Given the description of an element on the screen output the (x, y) to click on. 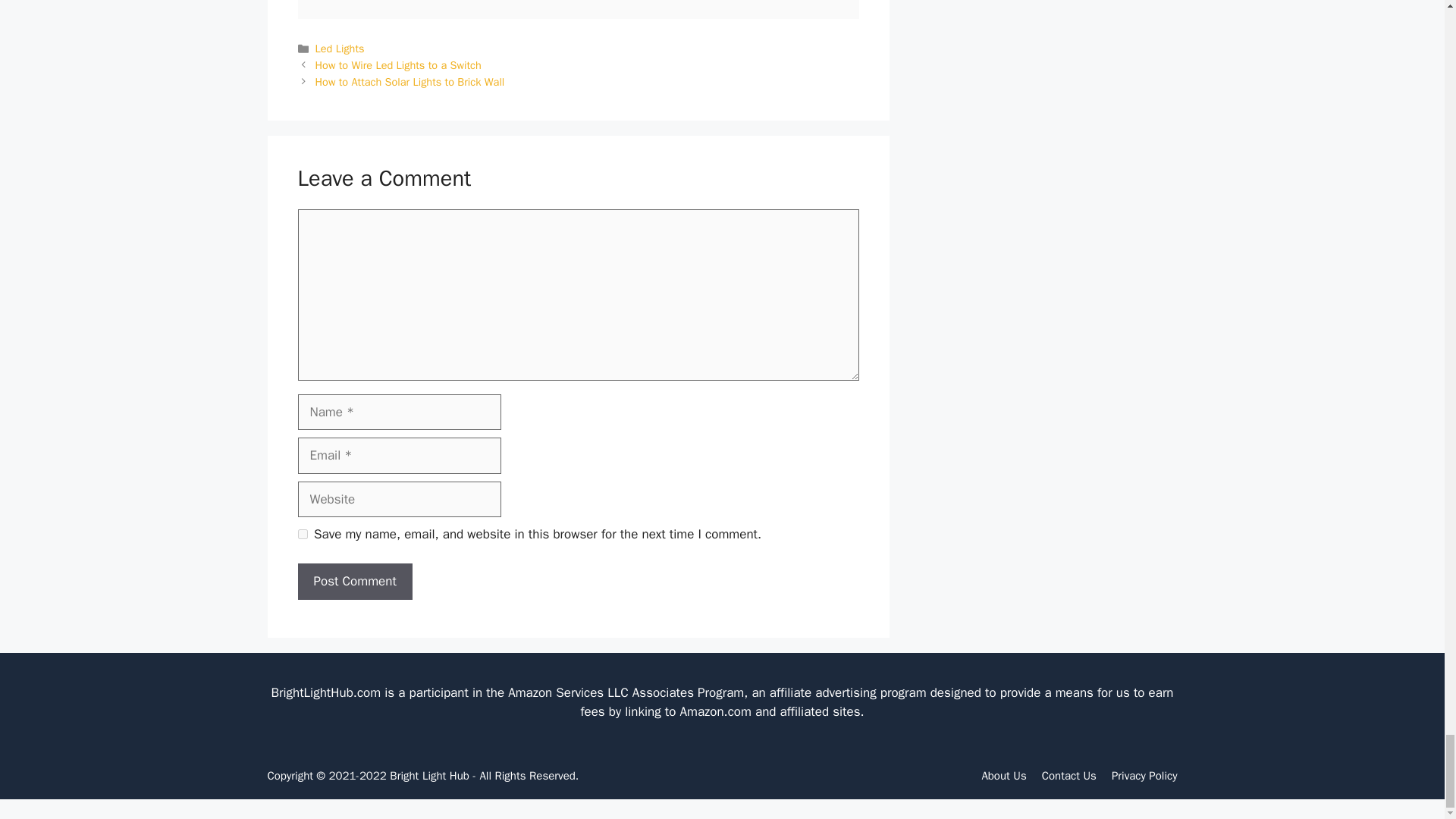
How to Attach Solar Lights to Brick Wall (410, 81)
How to Wire Led Lights to a Switch (398, 65)
About Us (1003, 775)
yes (302, 533)
Contact Us (1069, 775)
Privacy Policy (1144, 775)
Led Lights (340, 48)
Post Comment (354, 581)
Post Comment (354, 581)
